Given the description of an element on the screen output the (x, y) to click on. 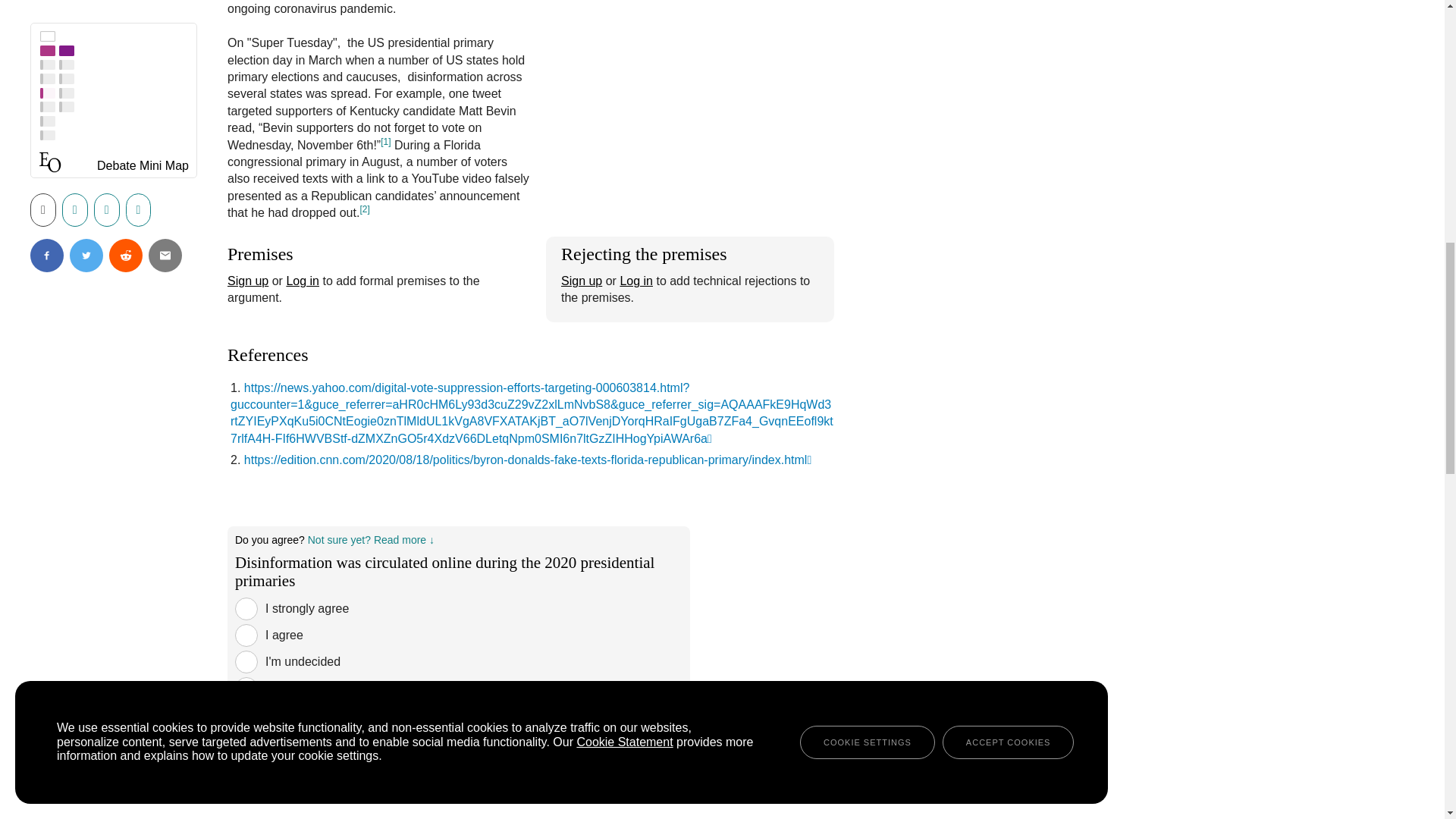
4 (245, 688)
Sign up (247, 280)
5 (245, 714)
Sign up (581, 280)
2 (245, 635)
3 (245, 661)
Log in (301, 280)
Log in (636, 280)
1 (245, 608)
